Given the description of an element on the screen output the (x, y) to click on. 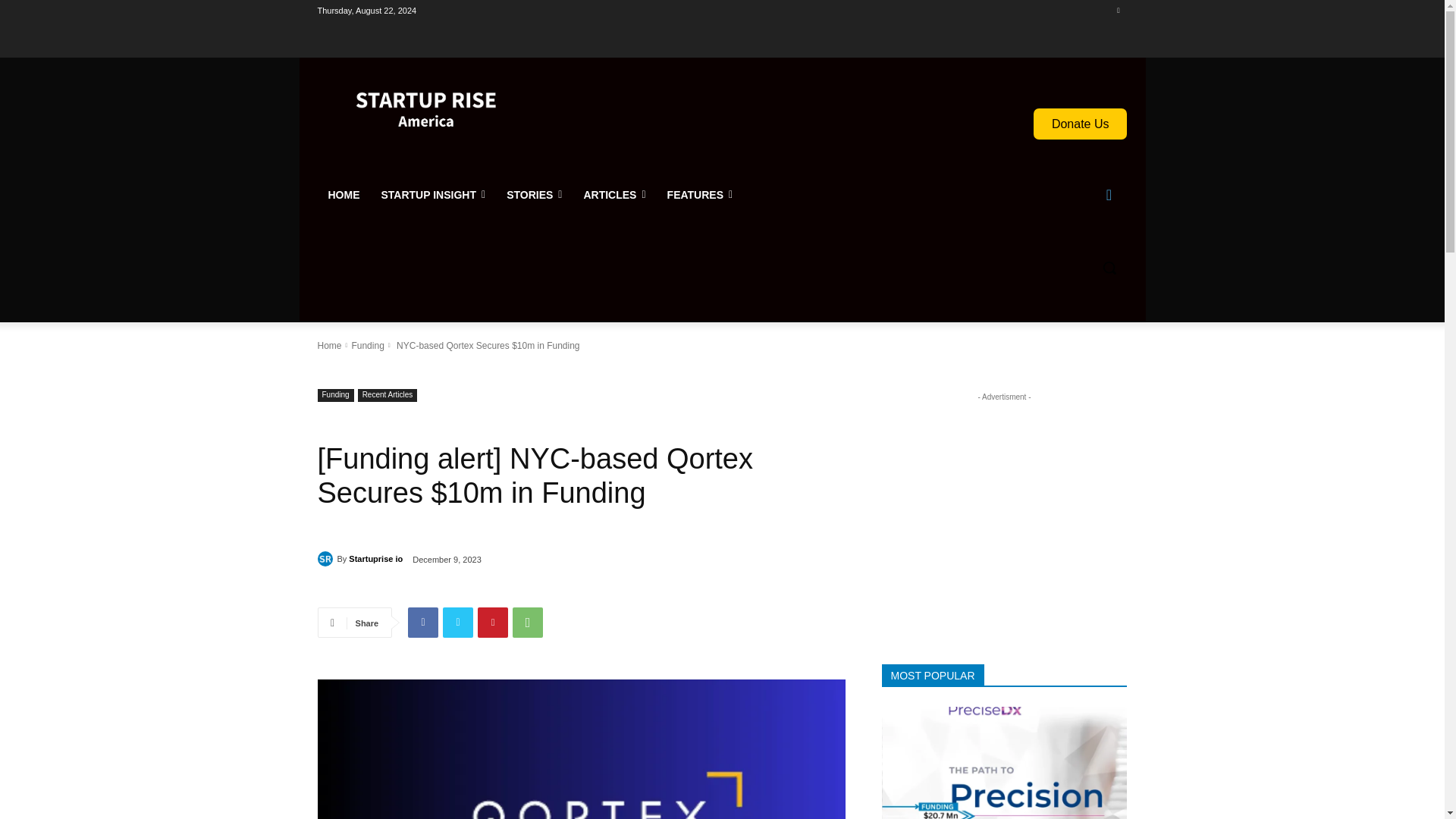
Donate Us (1079, 123)
Donate Us (1079, 123)
HOME (343, 194)
STARTUP INSIGHT (432, 194)
Linkedin (1117, 9)
ARTICLES (614, 194)
STORIES (534, 194)
